Given the description of an element on the screen output the (x, y) to click on. 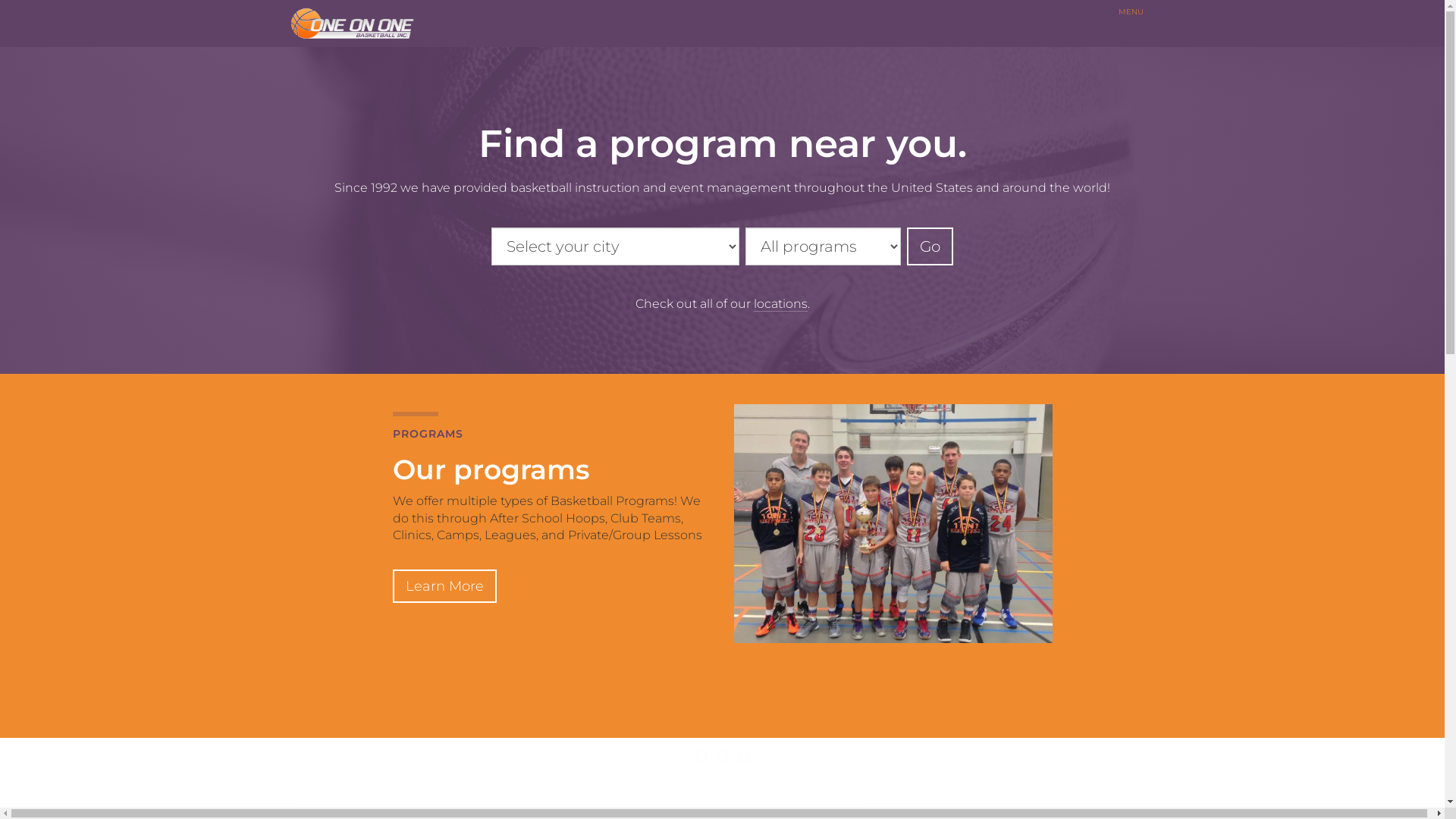
3 Element type: text (743, 756)
MENU Element type: text (1130, 12)
1 Element type: text (700, 756)
locations Element type: text (780, 303)
Home Element type: hover (357, 23)
2 Element type: text (721, 756)
Learn More Element type: text (444, 585)
Go Element type: text (929, 246)
Skip to main content Element type: text (0, 47)
